Given the description of an element on the screen output the (x, y) to click on. 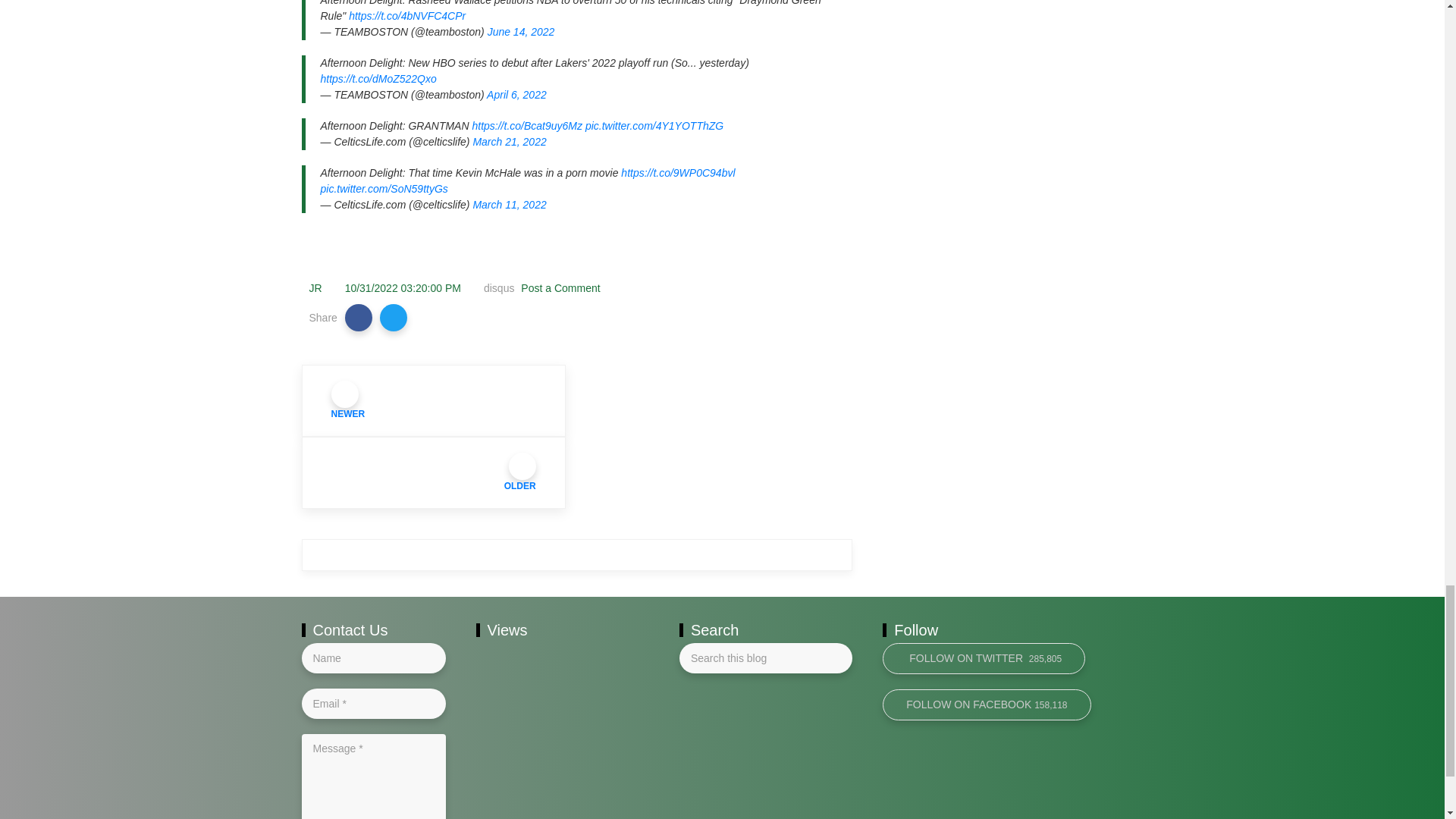
permanent link (403, 287)
Post a Comment (558, 287)
March 11, 2022 (508, 204)
Share to Facebook (358, 317)
April 6, 2022 (516, 94)
Share to Twitter (393, 317)
March 21, 2022 (508, 141)
JR (314, 287)
author profile (314, 287)
NEWER (433, 400)
